Given the description of an element on the screen output the (x, y) to click on. 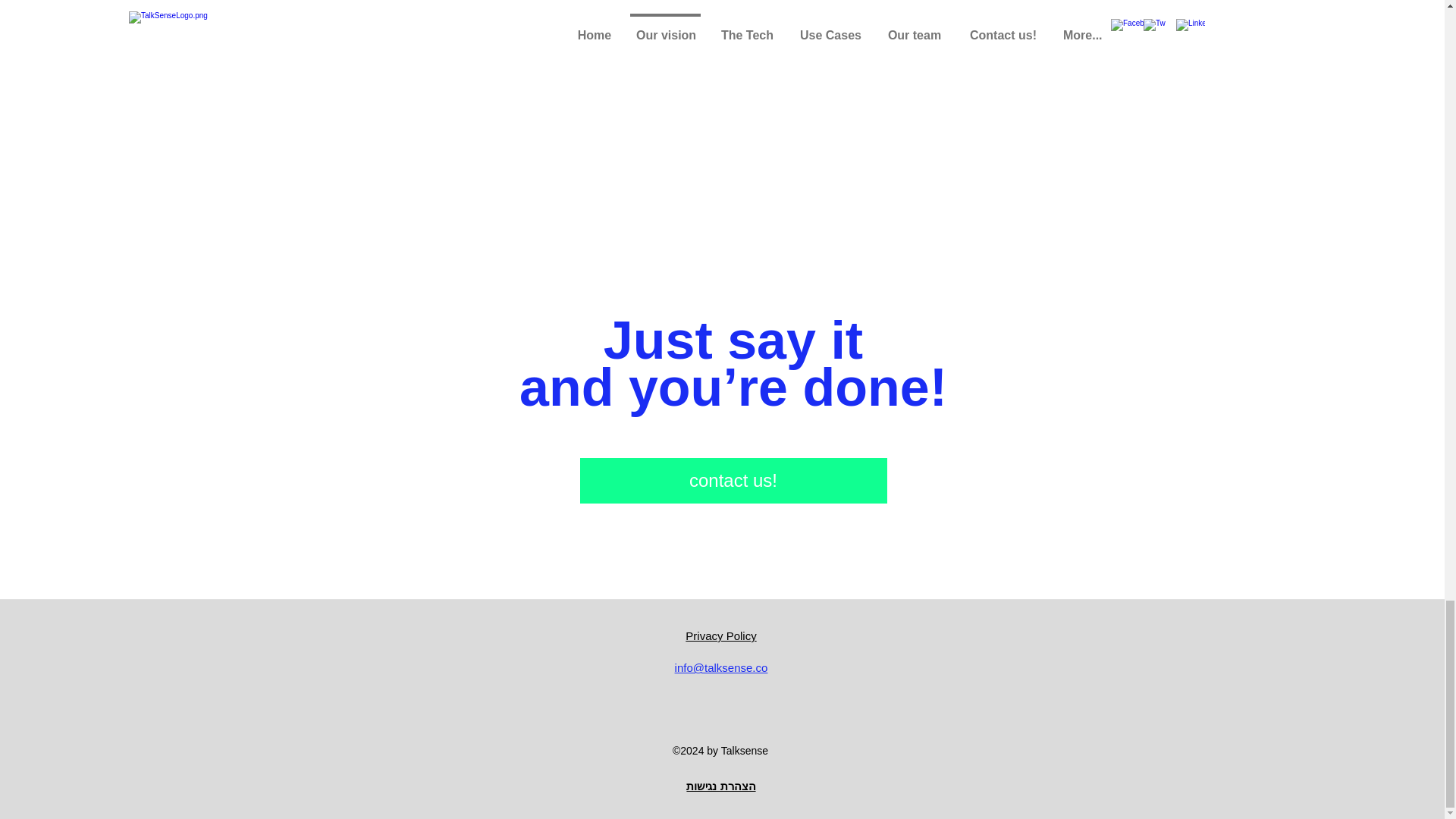
contact us! (732, 480)
Privacy Policy (720, 635)
